Given the description of an element on the screen output the (x, y) to click on. 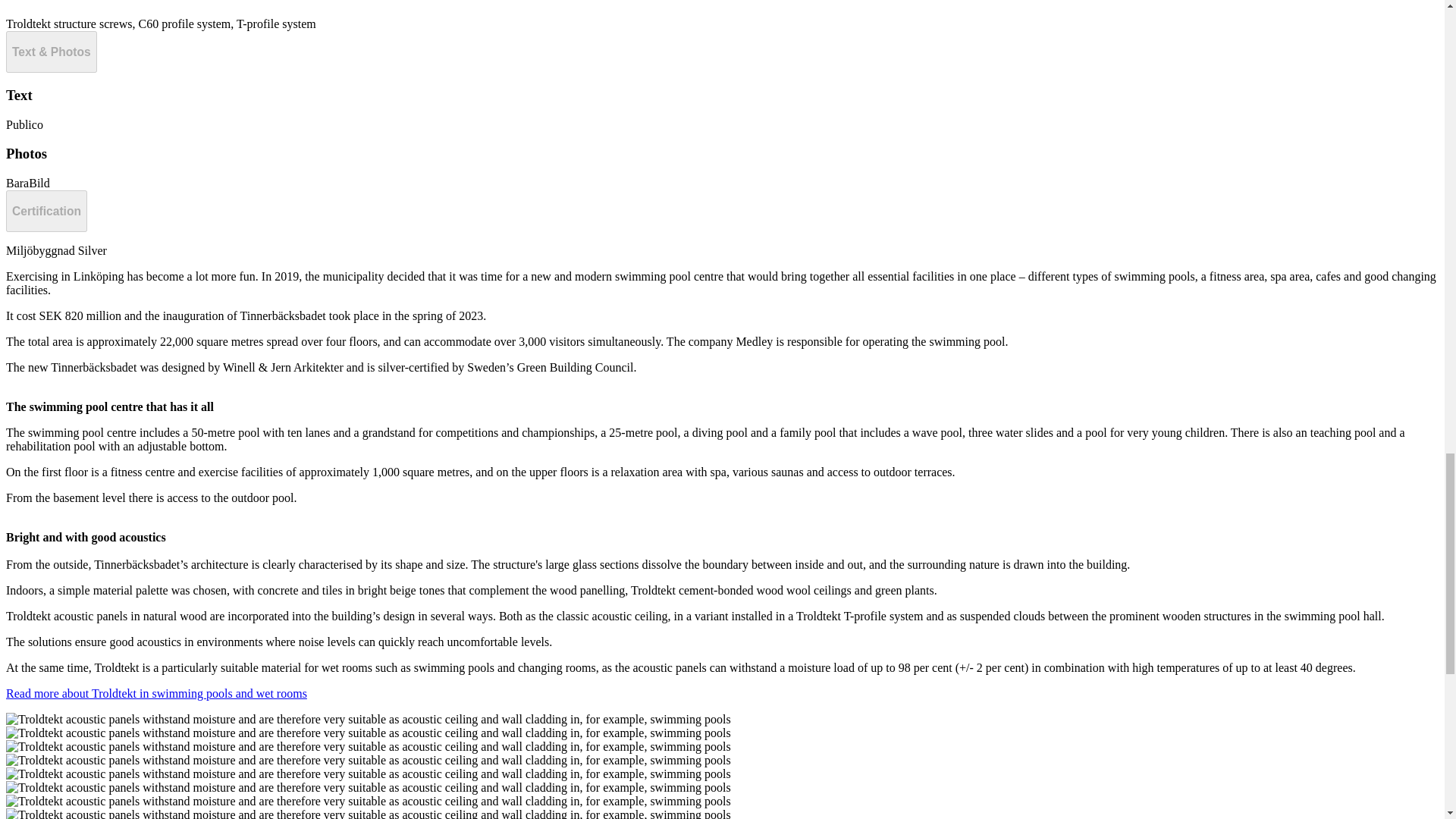
Humiduty tolerance (156, 693)
